Given the description of an element on the screen output the (x, y) to click on. 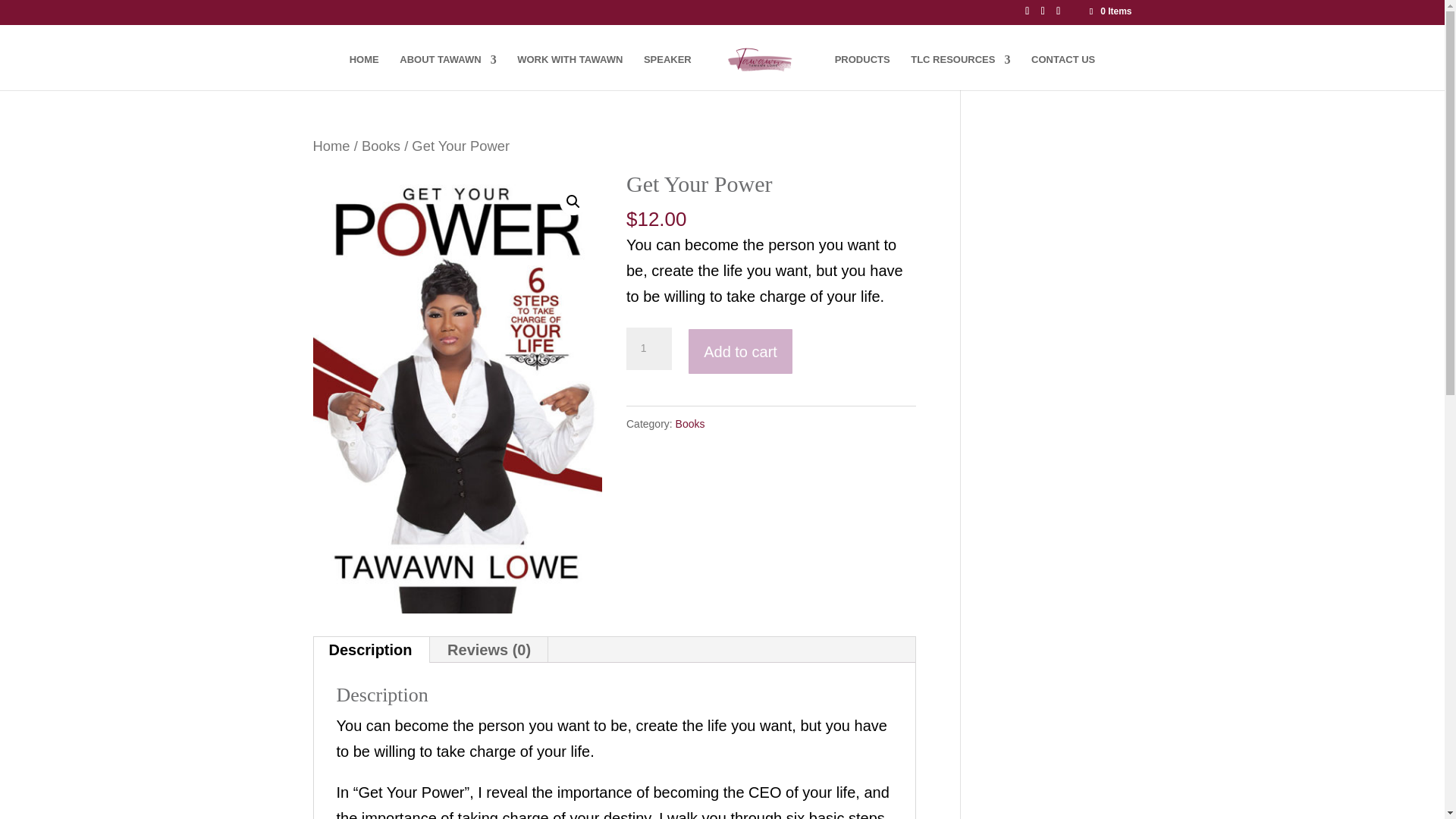
CONTACT US (1062, 72)
WORK WITH TAWAWN (569, 72)
Books (380, 145)
TLC RESOURCES (960, 72)
1 (648, 348)
Qty (648, 348)
SPEAKER (667, 72)
PRODUCTS (861, 72)
Home (331, 145)
ABOUT TAWAWN (447, 72)
0 Items (1108, 10)
